Given the description of an element on the screen output the (x, y) to click on. 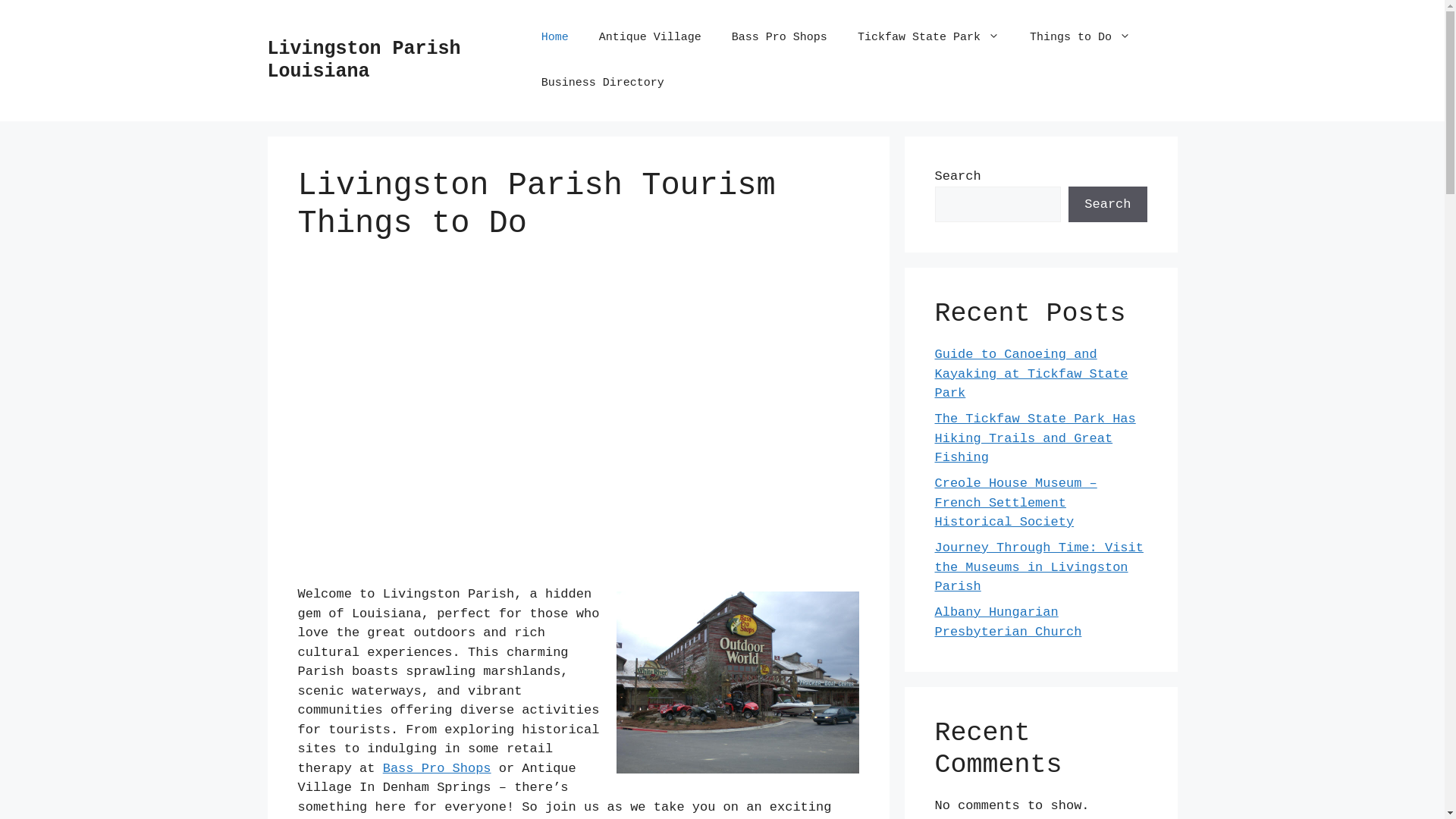
Livingston Parish Convention and Visitors Bureau - 2015 Element type: hover (577, 426)
Tickfaw State Park Element type: text (928, 37)
Things to Do Element type: text (1079, 37)
The Tickfaw State Park Has Hiking Trails and Great Fishing Element type: text (1034, 437)
Guide to Canoeing and Kayaking at Tickfaw State Park Element type: text (1030, 373)
Home Element type: text (554, 37)
Antique Village Element type: text (649, 37)
Business Directory Element type: text (602, 83)
Journey Through Time: Visit the Museums in Livingston Parish Element type: text (1038, 566)
Livingston Parish Louisiana Element type: text (363, 59)
Bass Pro Shops Element type: text (779, 37)
Albany Hungarian Presbyterian Church Element type: text (1007, 622)
Search Element type: text (1107, 204)
Bass Pro Shops Element type: text (436, 768)
